Given the description of an element on the screen output the (x, y) to click on. 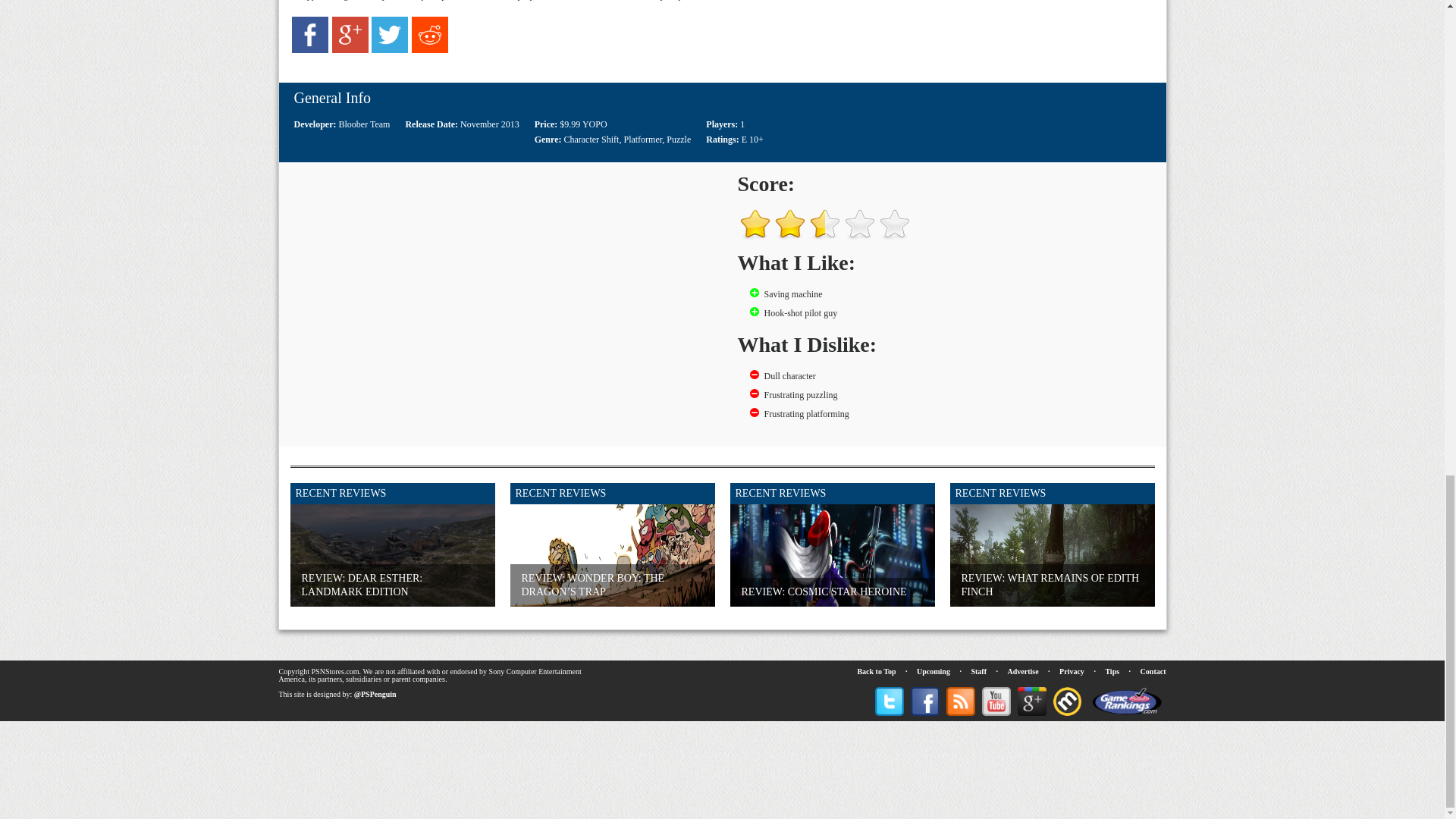
Share via Google (349, 50)
Share via Twitter (389, 50)
Share via Facebook (310, 50)
Share via Reddit (430, 50)
